Given the description of an element on the screen output the (x, y) to click on. 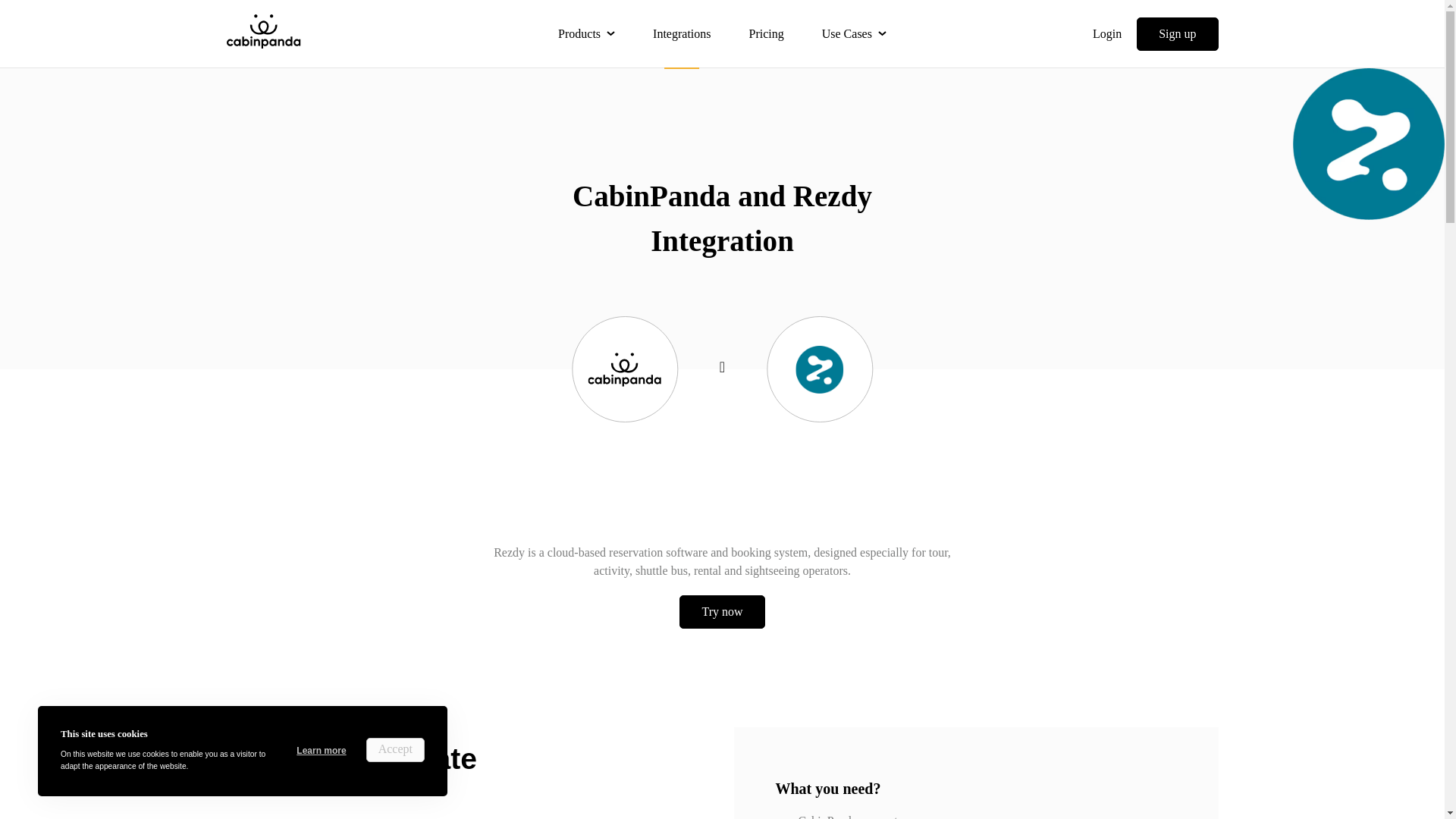
Accept (395, 749)
CabinPanda (262, 33)
CabinPanda (262, 30)
Login (1107, 33)
Try now (721, 611)
Learn more (321, 750)
Sign up (1177, 32)
